Given the description of an element on the screen output the (x, y) to click on. 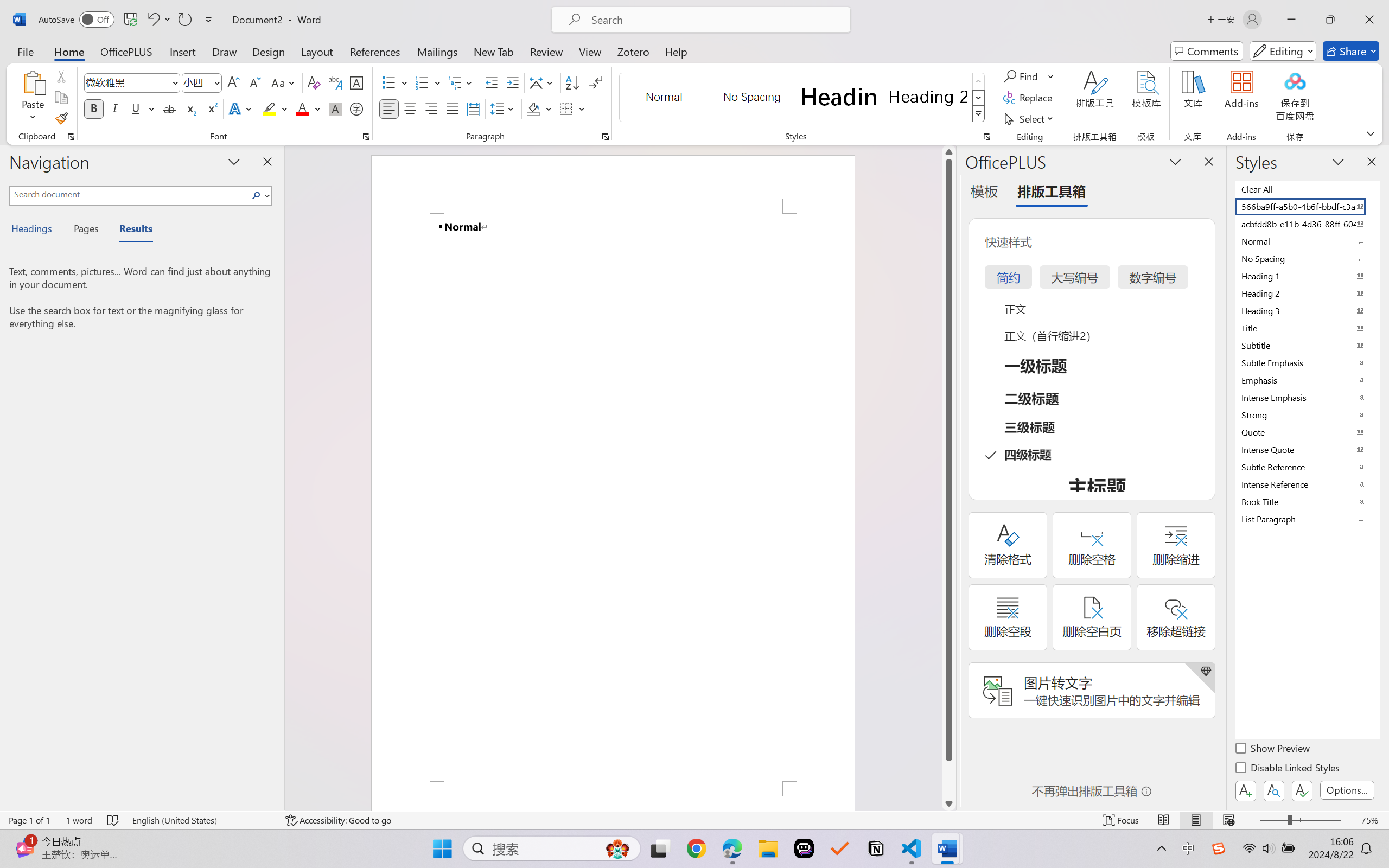
AutoSave (76, 19)
File Tab (24, 51)
Bullets (388, 82)
No Spacing (1306, 258)
Sort... (571, 82)
Page down (948, 778)
Center (409, 108)
Mode (1283, 50)
Row up (978, 81)
Clear Formatting (313, 82)
